Given the description of an element on the screen output the (x, y) to click on. 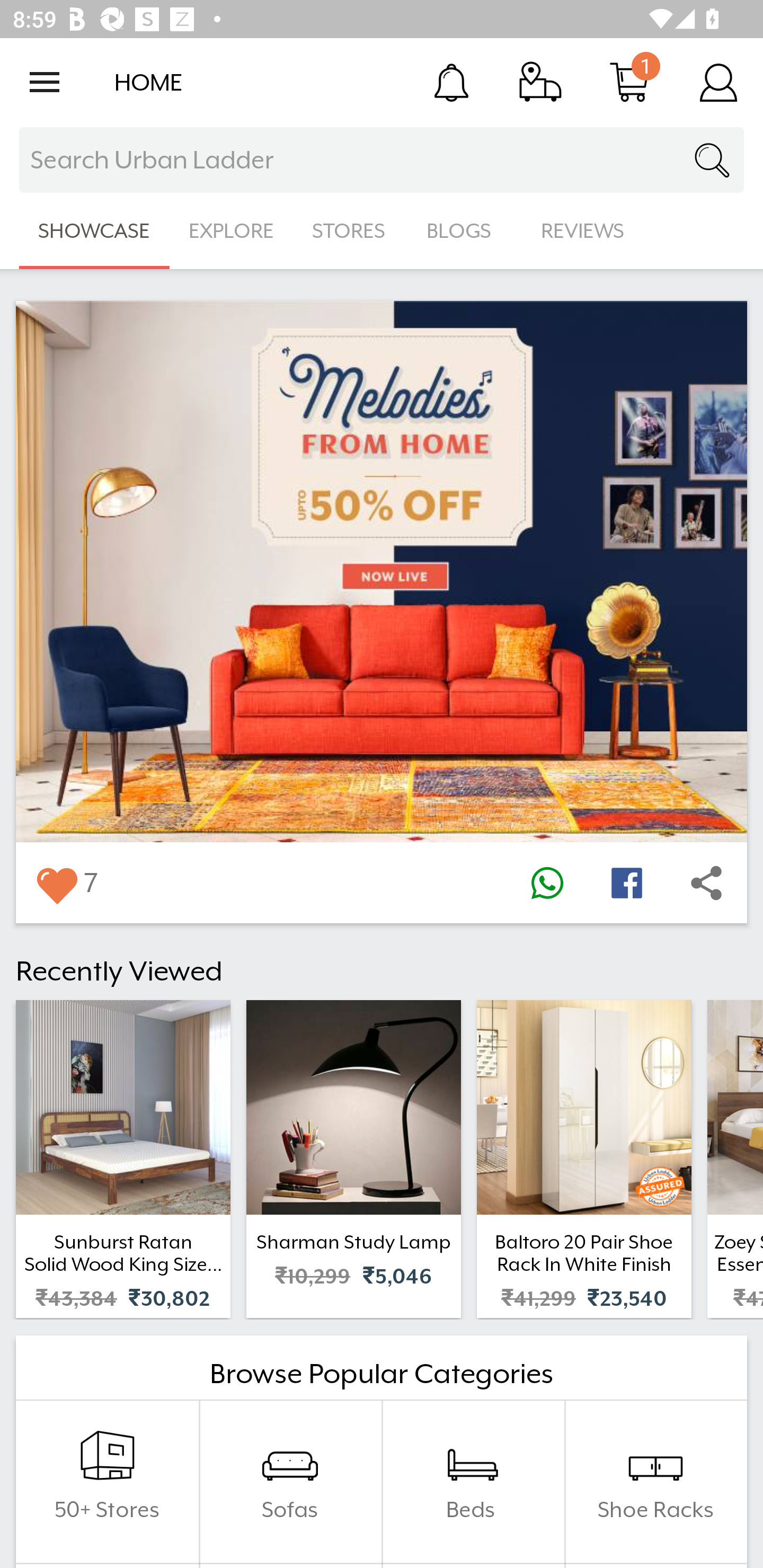
Open navigation drawer (44, 82)
Notification (450, 81)
Track Order (540, 81)
Cart (629, 81)
Account Details (718, 81)
Search Urban Ladder  (381, 159)
SHOWCASE (94, 230)
EXPLORE (230, 230)
STORES (349, 230)
BLOGS (464, 230)
REVIEWS (582, 230)
 (55, 882)
 (547, 882)
 (626, 882)
 (706, 882)
Sharman Study Lamp ₹10,299 ₹5,046 (353, 1159)
50+ Stores (106, 1481)
Sofas (289, 1481)
Beds  (473, 1481)
Shoe Racks (655, 1481)
